Given the description of an element on the screen output the (x, y) to click on. 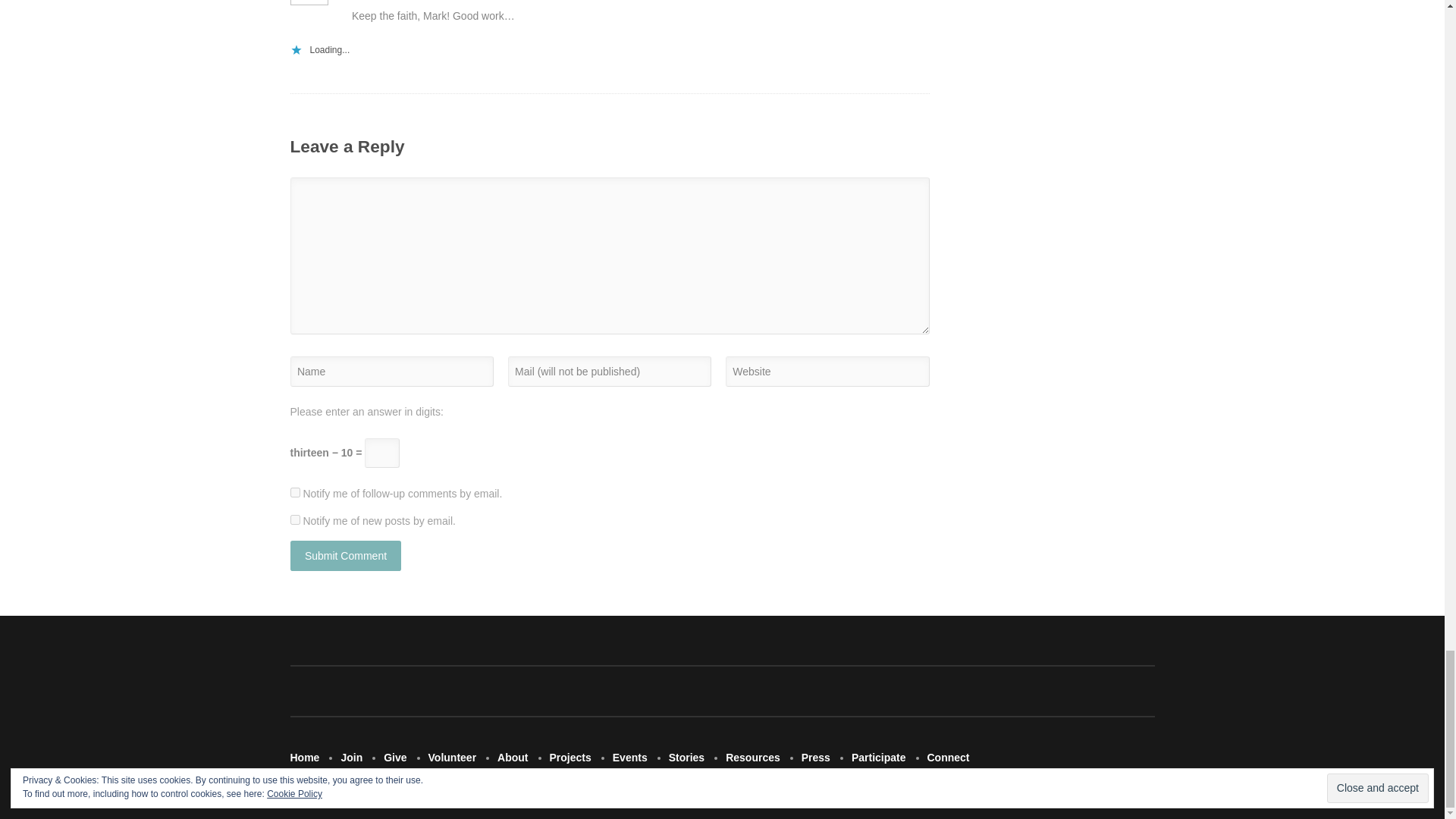
Name (391, 370)
Submit Comment (345, 555)
Website (827, 370)
subscribe (294, 492)
subscribe (294, 519)
